Given the description of an element on the screen output the (x, y) to click on. 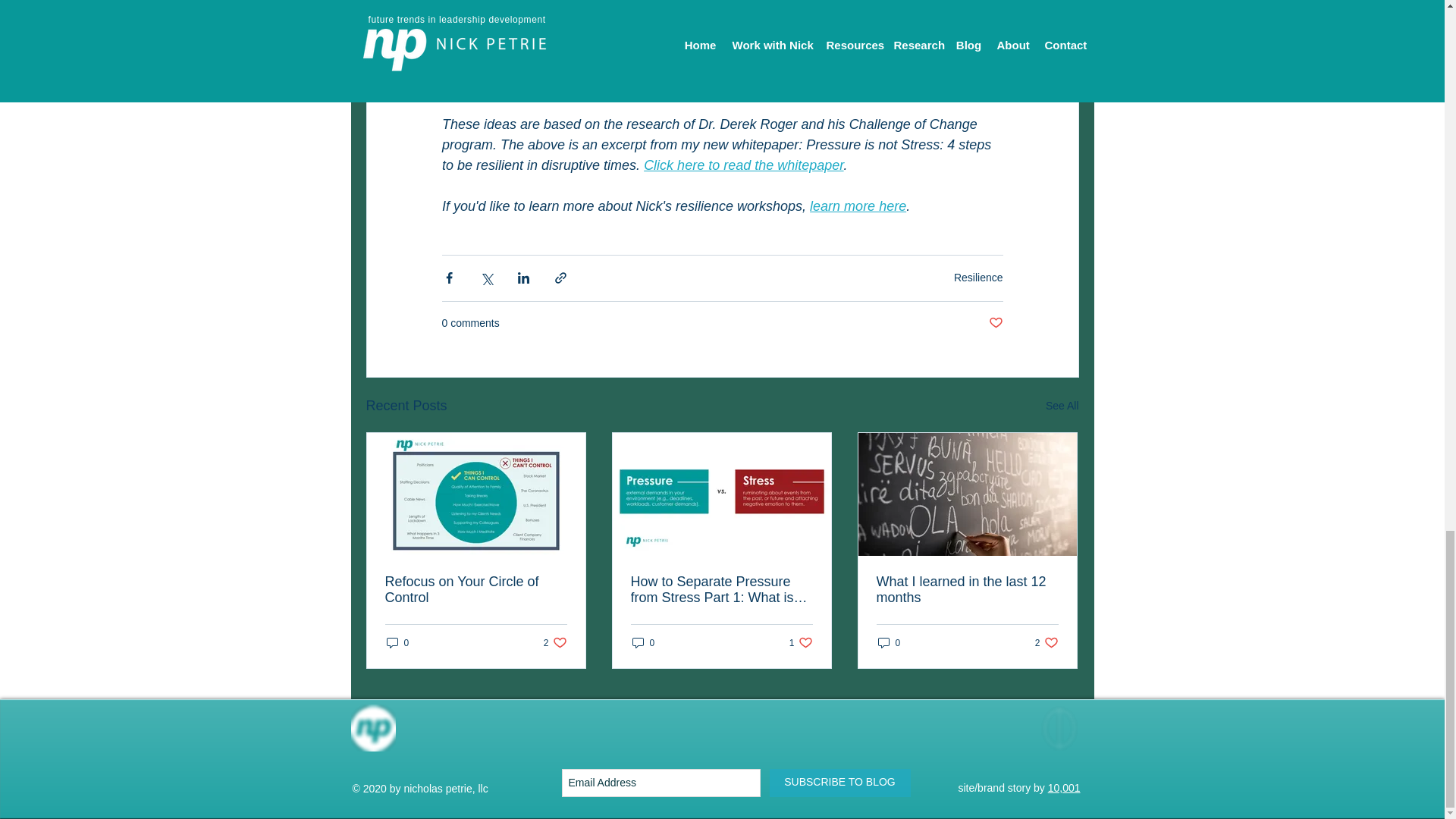
learn more here (857, 206)
0 (1046, 642)
Resilience (889, 642)
Click here to read the whitepaper (800, 642)
Refocus on Your Circle of Control (978, 277)
0 (743, 165)
Post not marked as liked (476, 590)
